Given the description of an element on the screen output the (x, y) to click on. 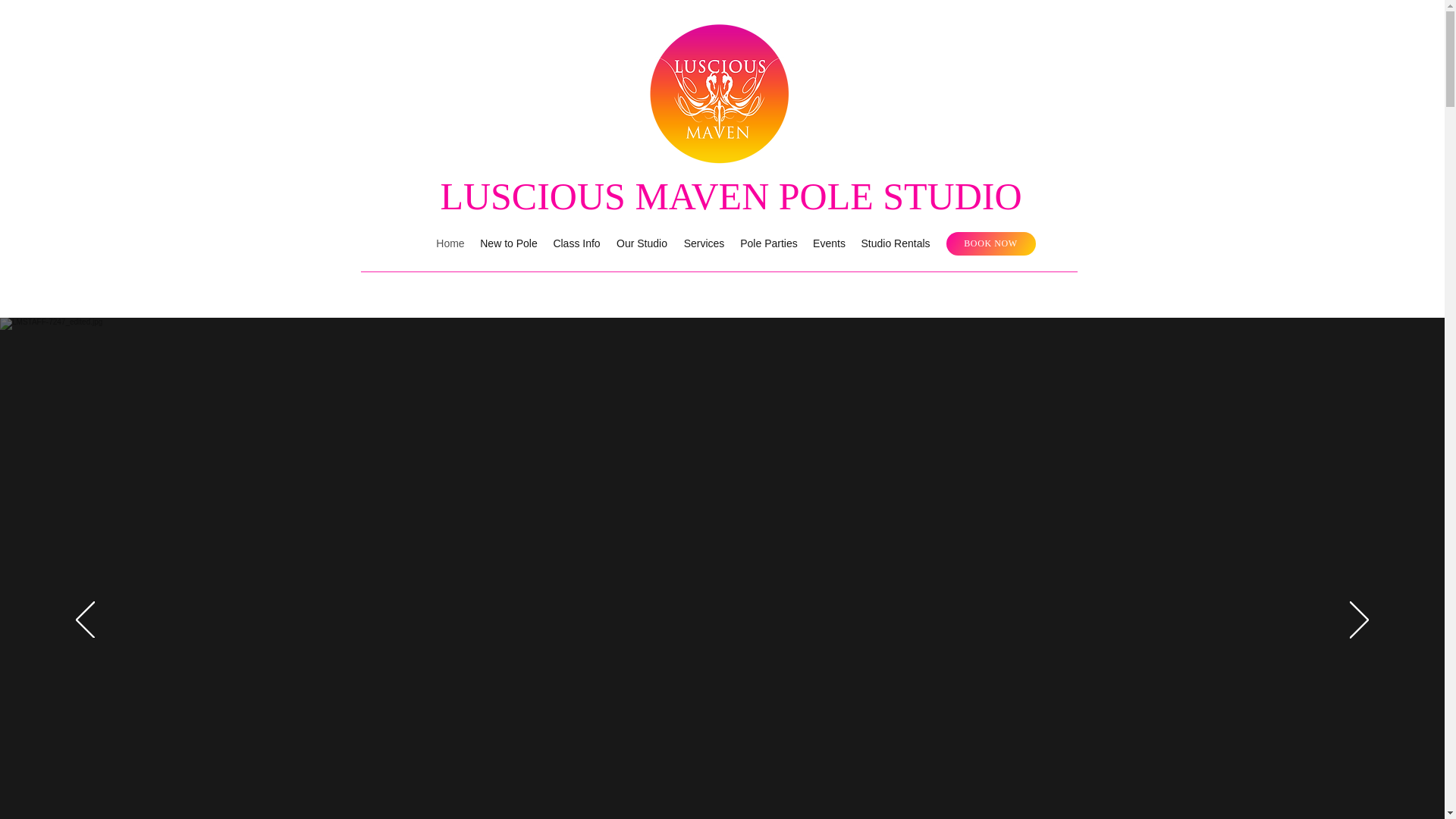
LUSCIOUS MAVEN POLE STUDIO (730, 196)
Pole Parties (768, 243)
Studio Rentals (895, 243)
BOOK NOW (990, 243)
New to Pole (507, 243)
Events (829, 243)
Our Studio (641, 243)
Services (703, 243)
Class Info (576, 243)
Home (449, 243)
